Given the description of an element on the screen output the (x, y) to click on. 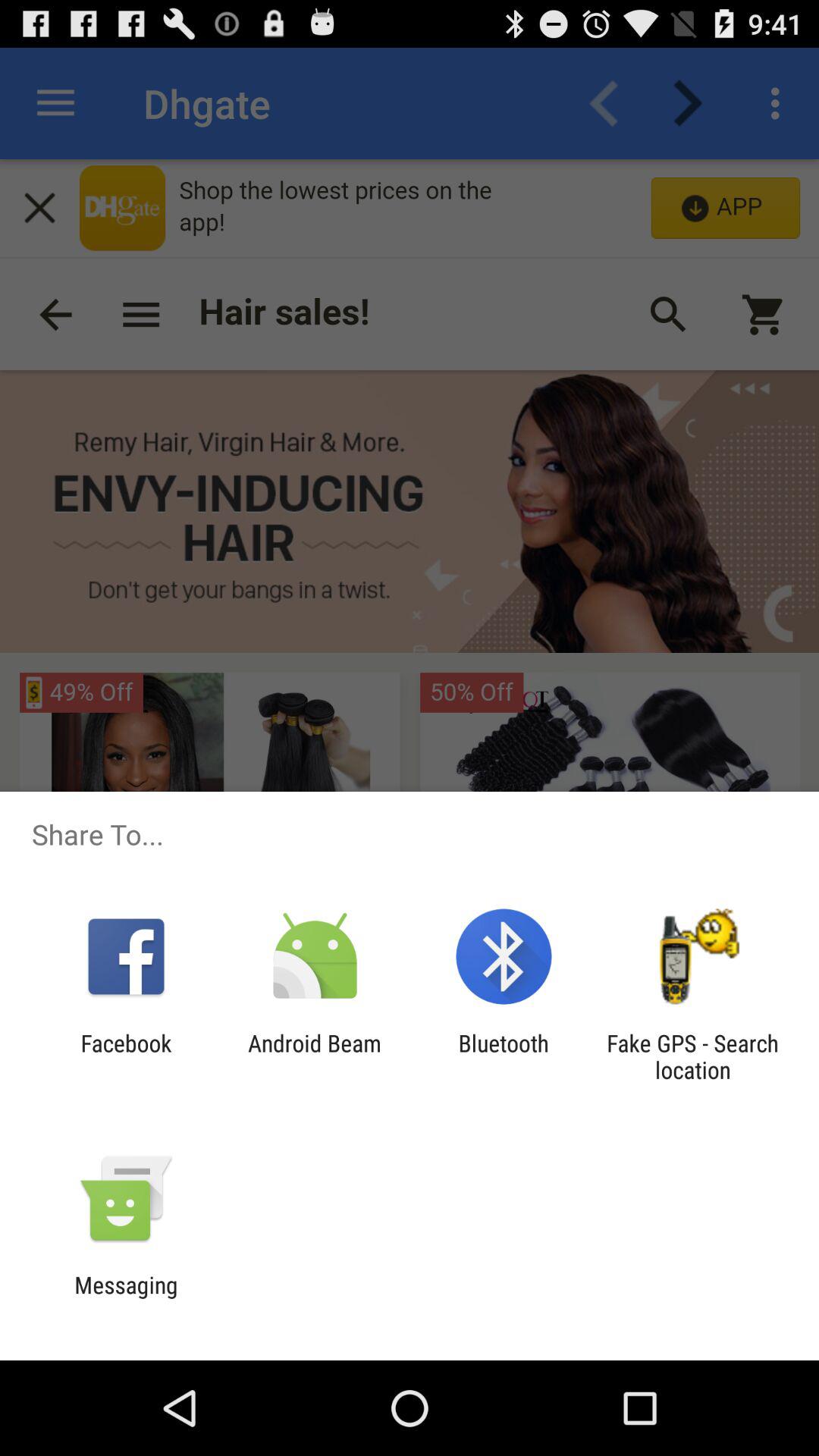
press app next to fake gps search (503, 1056)
